Given the description of an element on the screen output the (x, y) to click on. 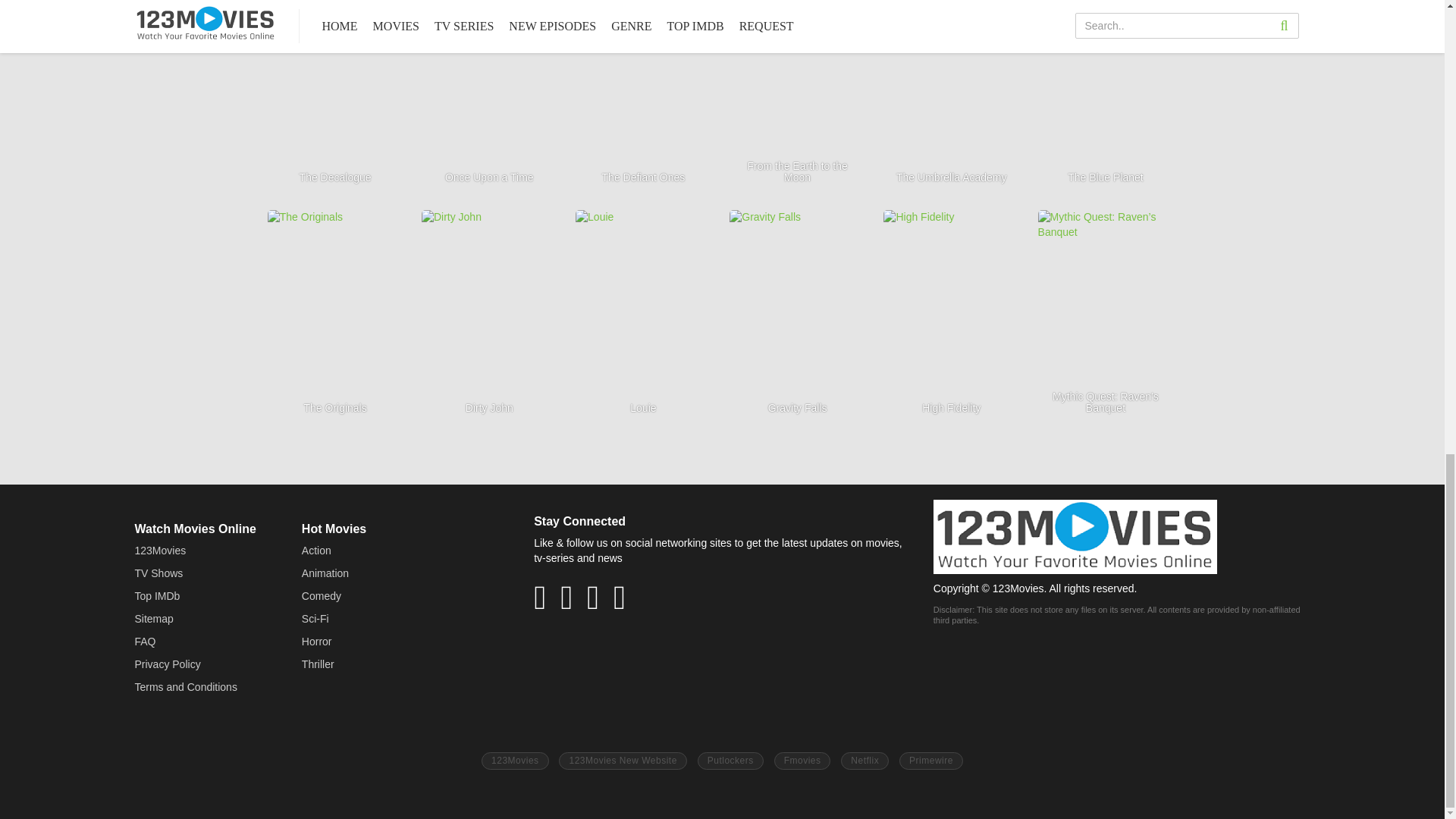
123Movies (514, 760)
123Movies New Website (622, 760)
Putlockers (729, 760)
Fmovies (802, 760)
